Given the description of an element on the screen output the (x, y) to click on. 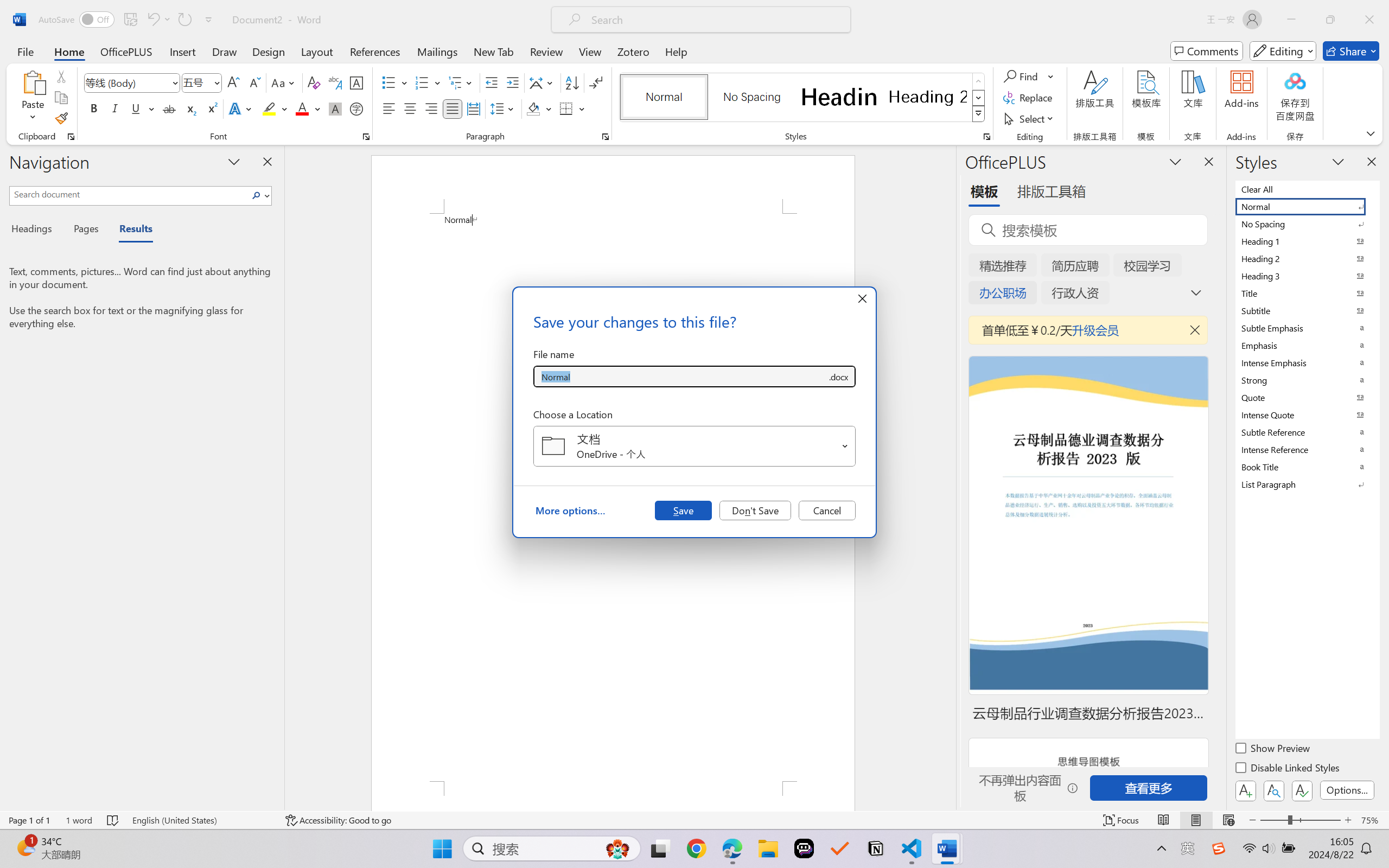
Bullets (395, 82)
Title (1306, 293)
Phonetic Guide... (334, 82)
Character Shading (334, 108)
Class: MsoCommandBar (694, 819)
Borders (566, 108)
Bold (94, 108)
Results (130, 229)
